Given the description of an element on the screen output the (x, y) to click on. 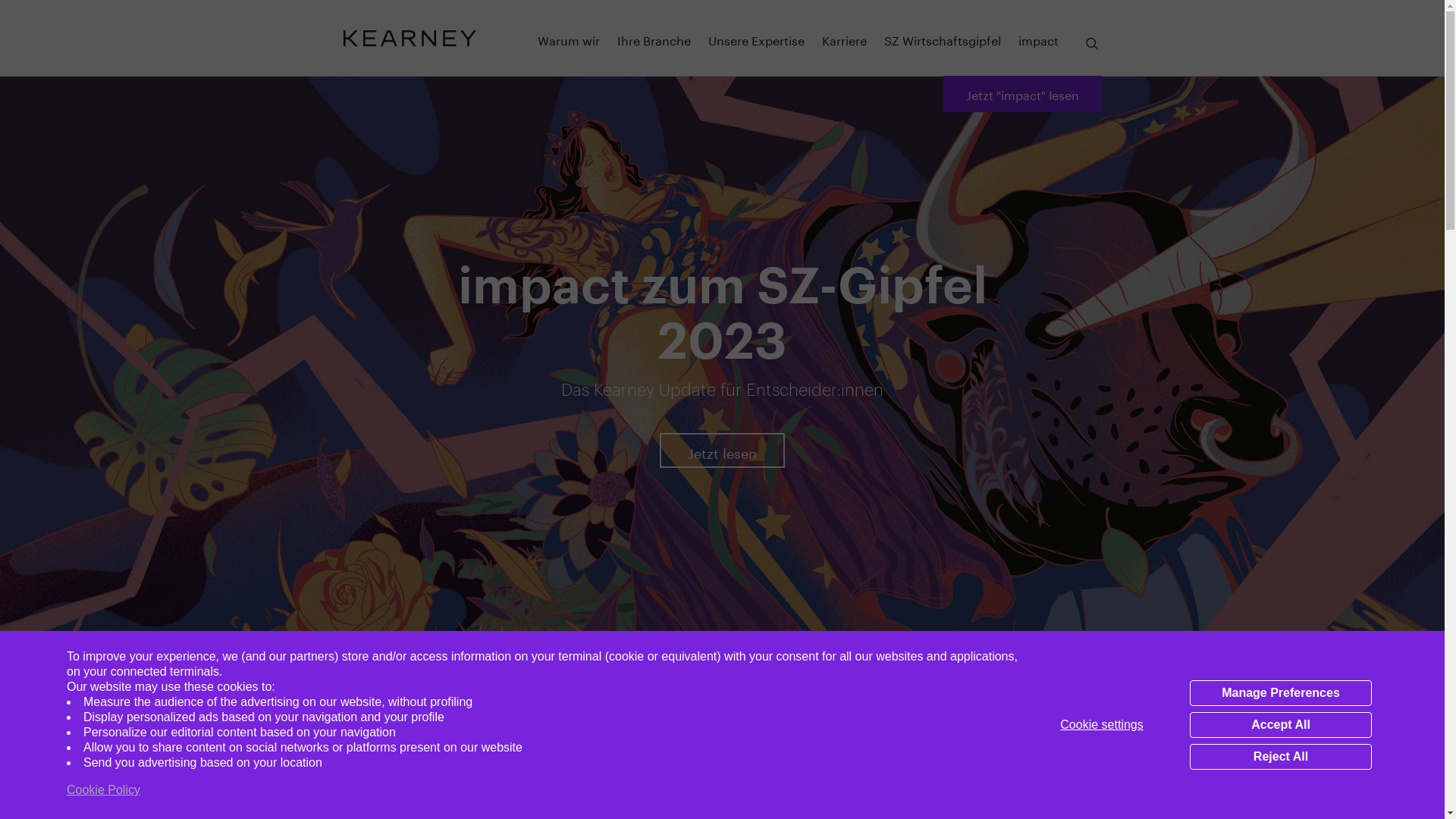
Kearney Element type: hover (408, 38)
Ihre Branche Element type: text (653, 39)
Reject All Element type: text (1280, 756)
Karriere Element type: text (844, 39)
Jetzt lesen Element type: text (722, 450)
Unsere Expertise Element type: text (756, 39)
Manage Preferences Element type: text (1280, 693)
impact Element type: text (1038, 39)
Accept All Element type: text (1280, 724)
Cookie Policy Element type: text (103, 789)
Search Element type: hover (1091, 43)
Warum wir Element type: text (568, 39)
Cookie settings Element type: text (1101, 724)
SZ Wirtschaftsgipfel Element type: text (942, 39)
